Given the description of an element on the screen output the (x, y) to click on. 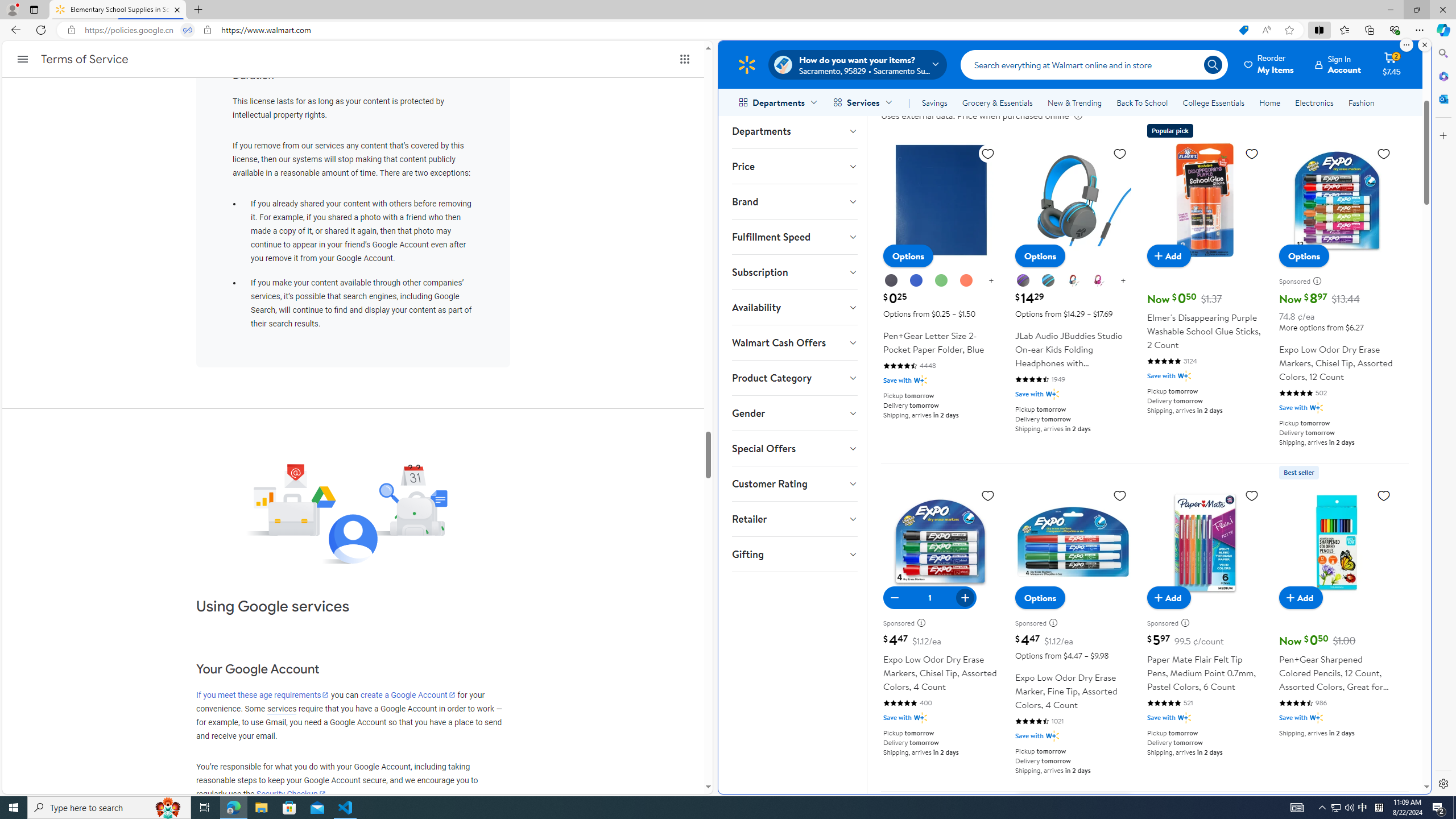
Restore (1416, 9)
Fulfillment Speed (794, 236)
Gray (1048, 280)
Green (941, 280)
Walmart Homepage (746, 64)
ReorderMy Items (1269, 64)
Gender (794, 412)
Fashion (1361, 102)
legal information (1078, 115)
Product Category (794, 377)
Customize (1442, 135)
Settings (1442, 783)
